Given the description of an element on the screen output the (x, y) to click on. 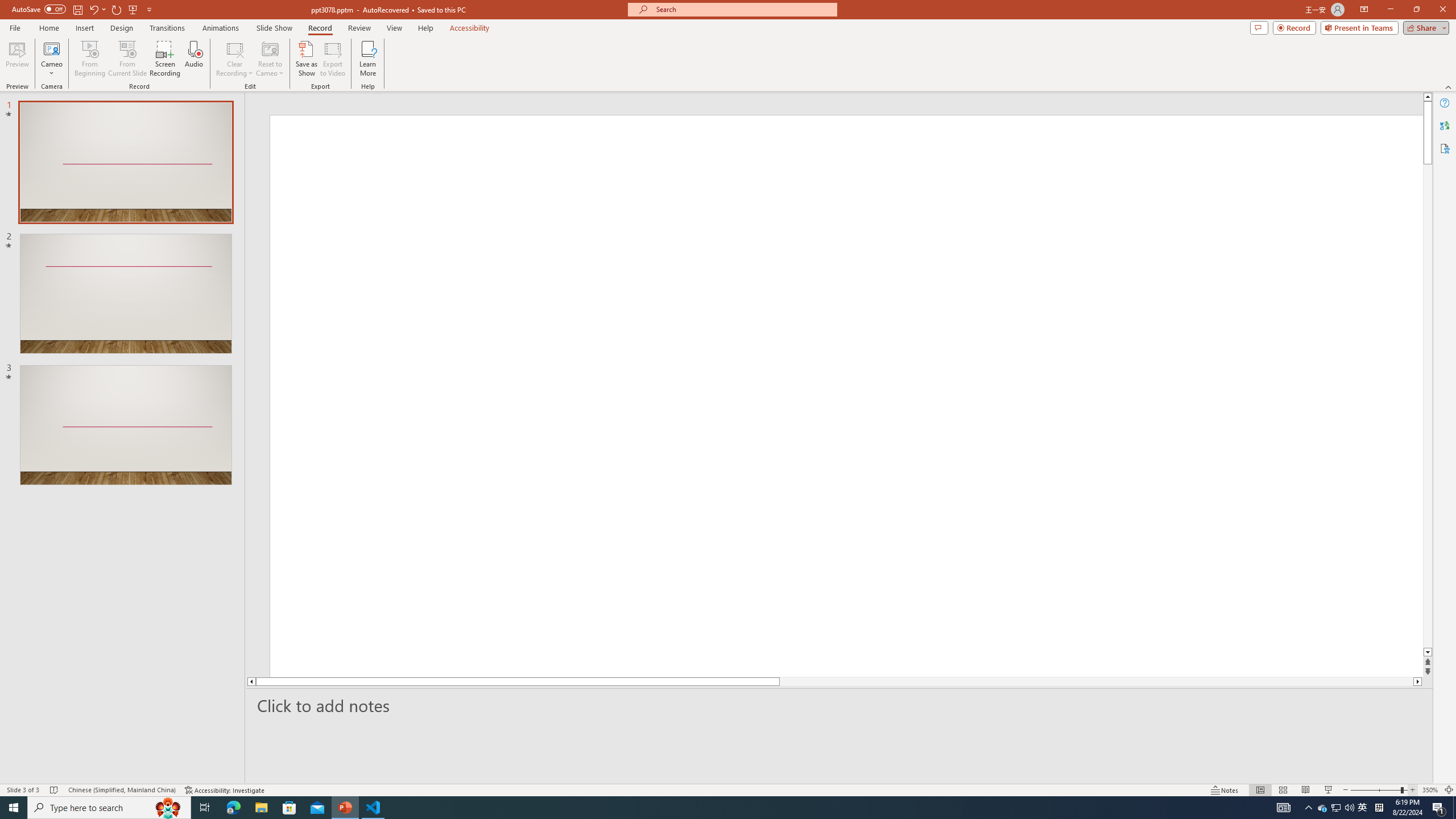
Save as Show (306, 58)
An abstract genetic concept (834, 395)
